Given the description of an element on the screen output the (x, y) to click on. 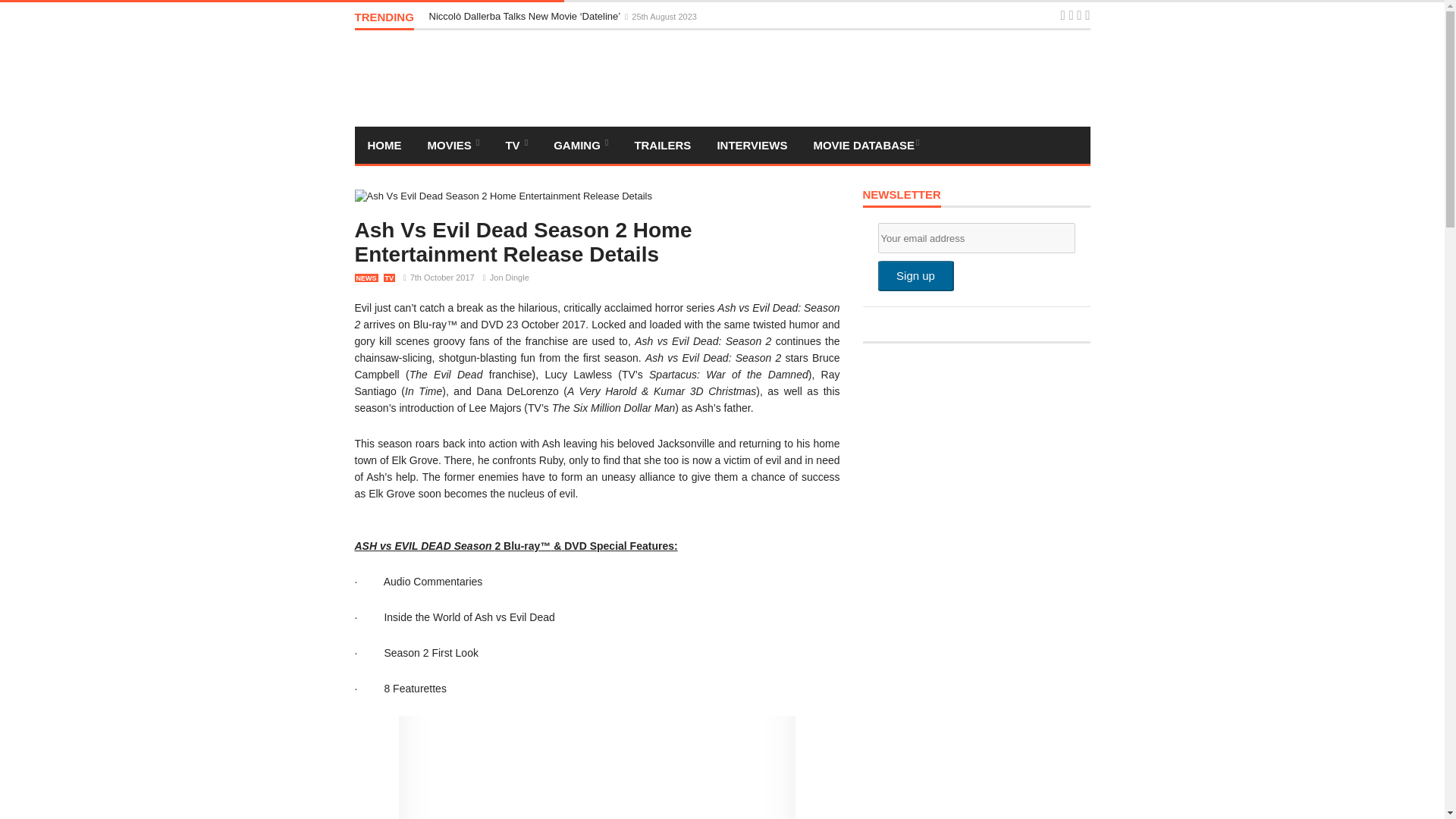
Trailers (662, 144)
Home (384, 144)
MOVIES (452, 144)
Gaming (865, 144)
TV (516, 144)
Interviews (751, 144)
Movies (452, 144)
HOME (384, 144)
Gaming (580, 144)
TRENDING (384, 20)
Sign up (915, 276)
